Given the description of an element on the screen output the (x, y) to click on. 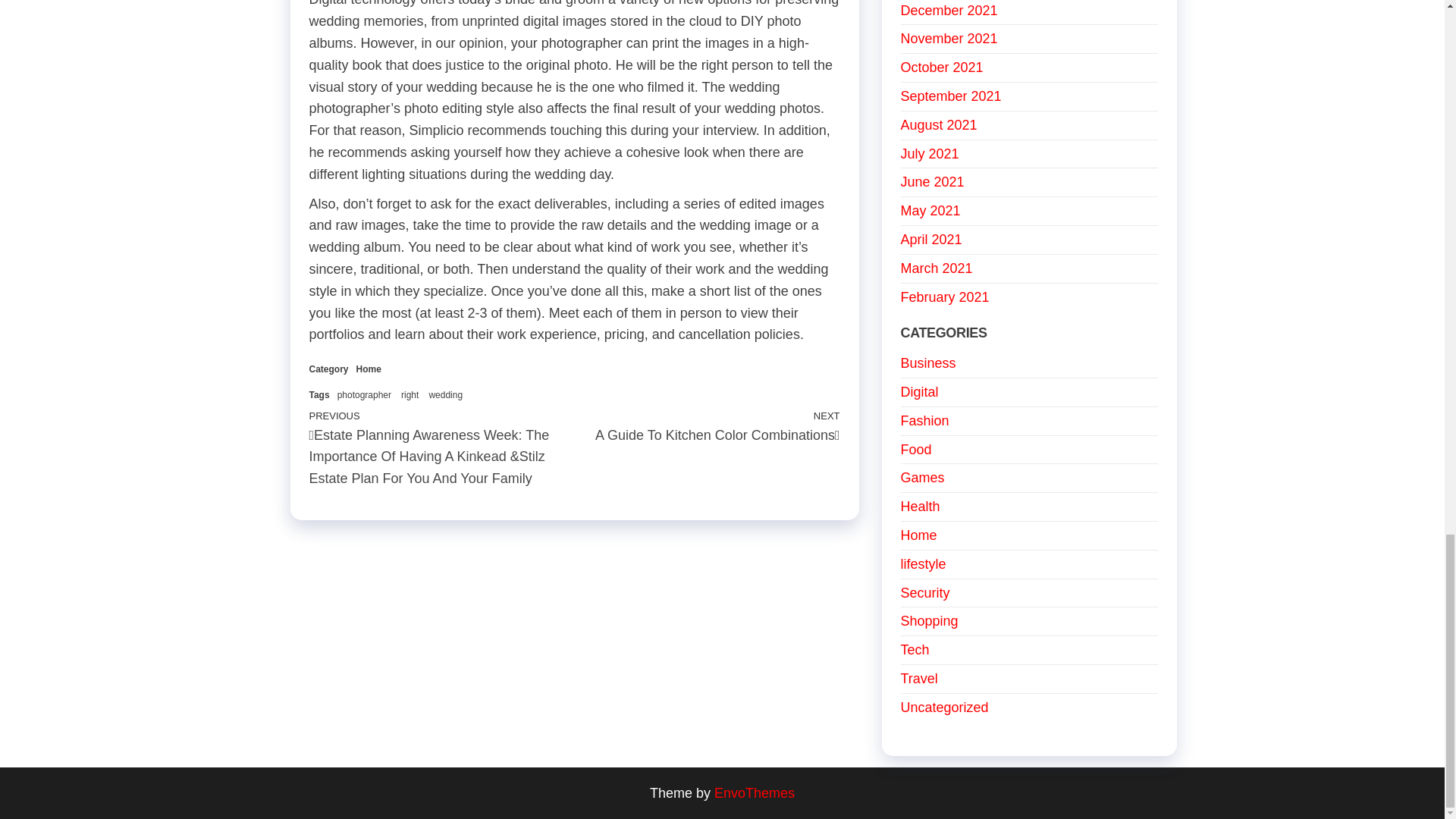
wedding (445, 394)
Home (707, 425)
photographer (368, 368)
right (364, 394)
